Given the description of an element on the screen output the (x, y) to click on. 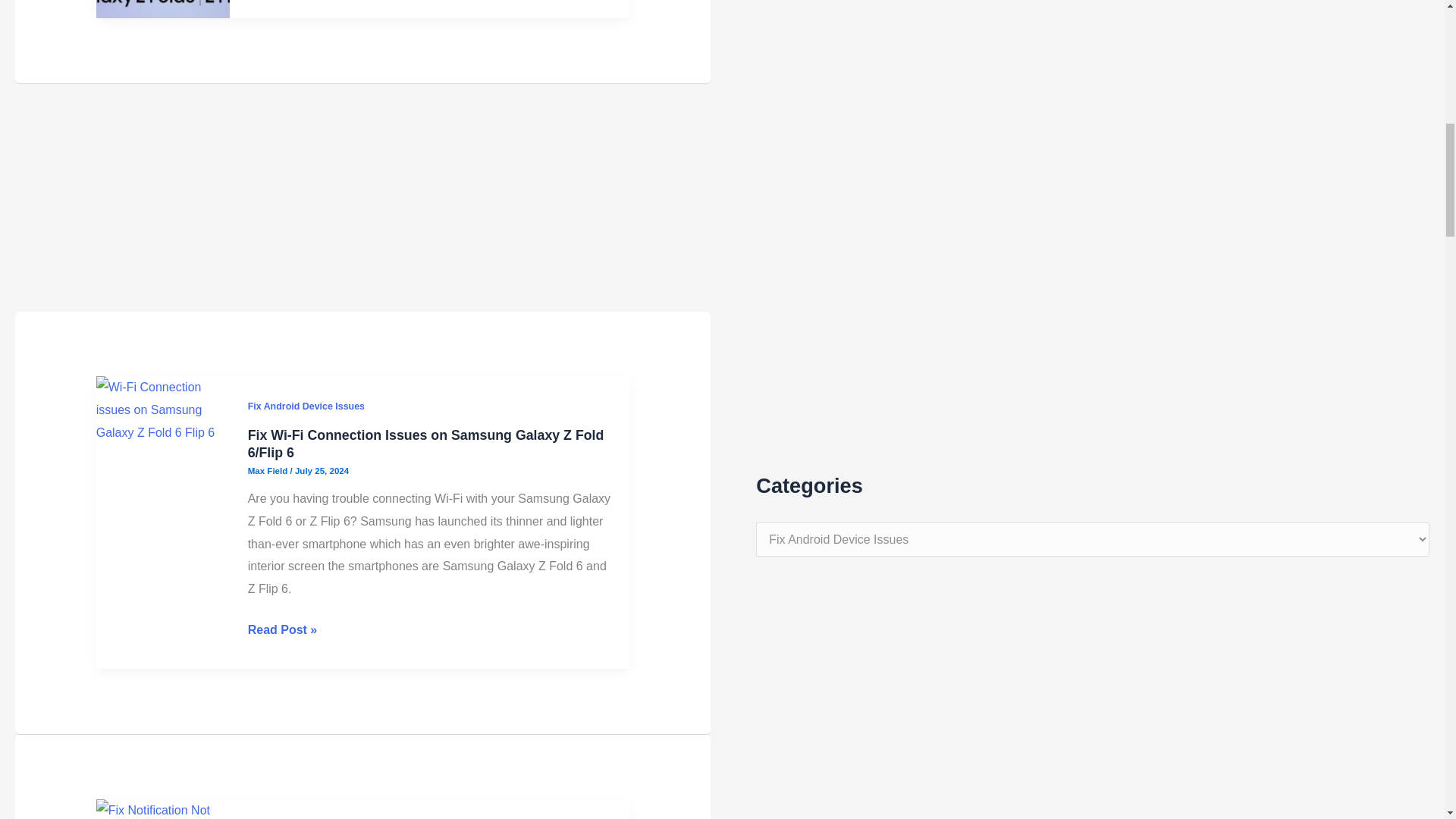
View all posts by Max Field (268, 470)
